Given the description of an element on the screen output the (x, y) to click on. 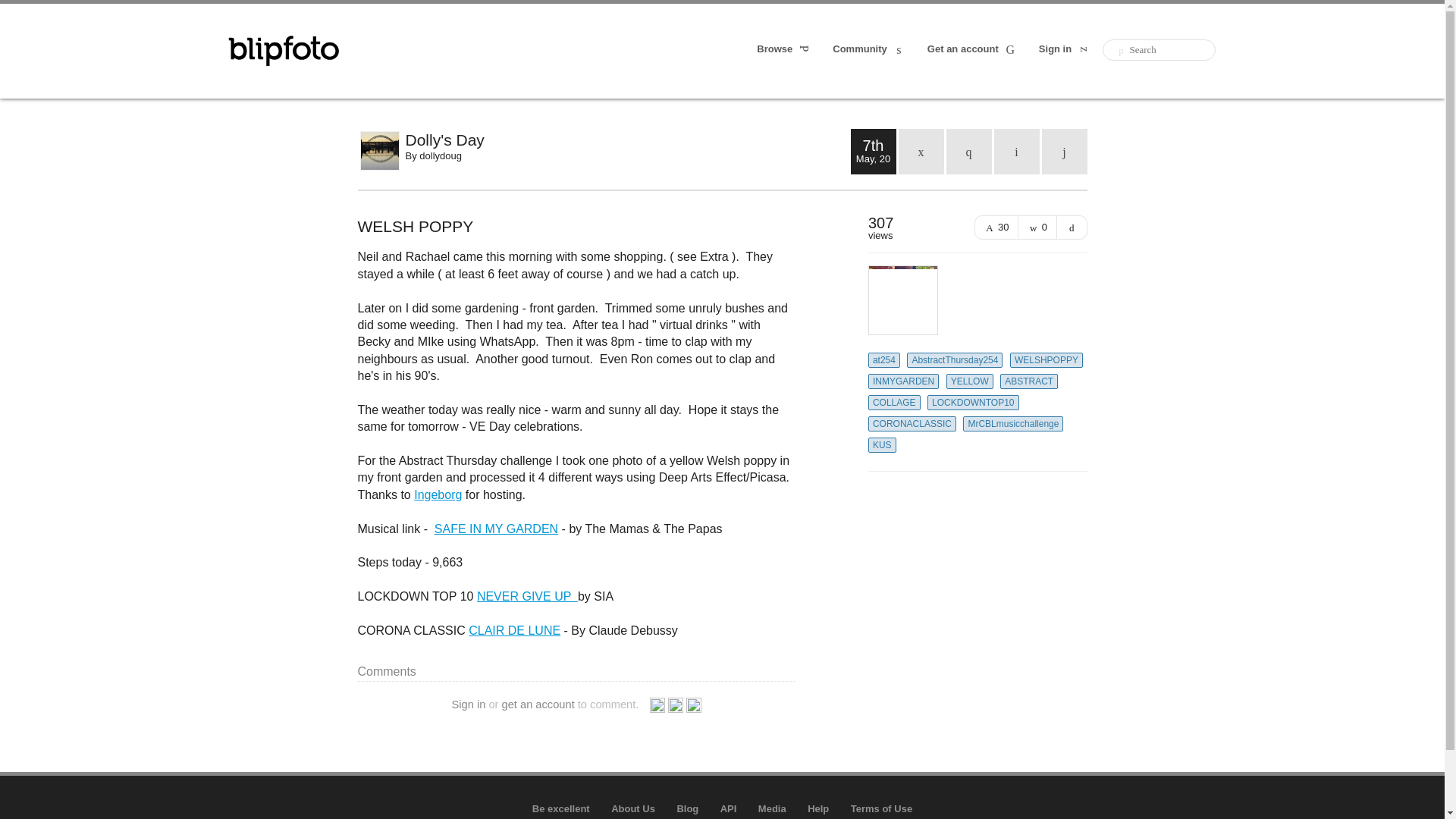
ABSTRACT (1029, 381)
calendar (920, 151)
SAFE IN MY GARDEN (495, 528)
Previous (1015, 151)
Sign in (1064, 50)
YELLOW (969, 381)
Show large (1072, 227)
AbstractThursday254 (955, 359)
LOCKDOWNTOP10 (972, 402)
WELSHPOPPY (1046, 359)
